Given the description of an element on the screen output the (x, y) to click on. 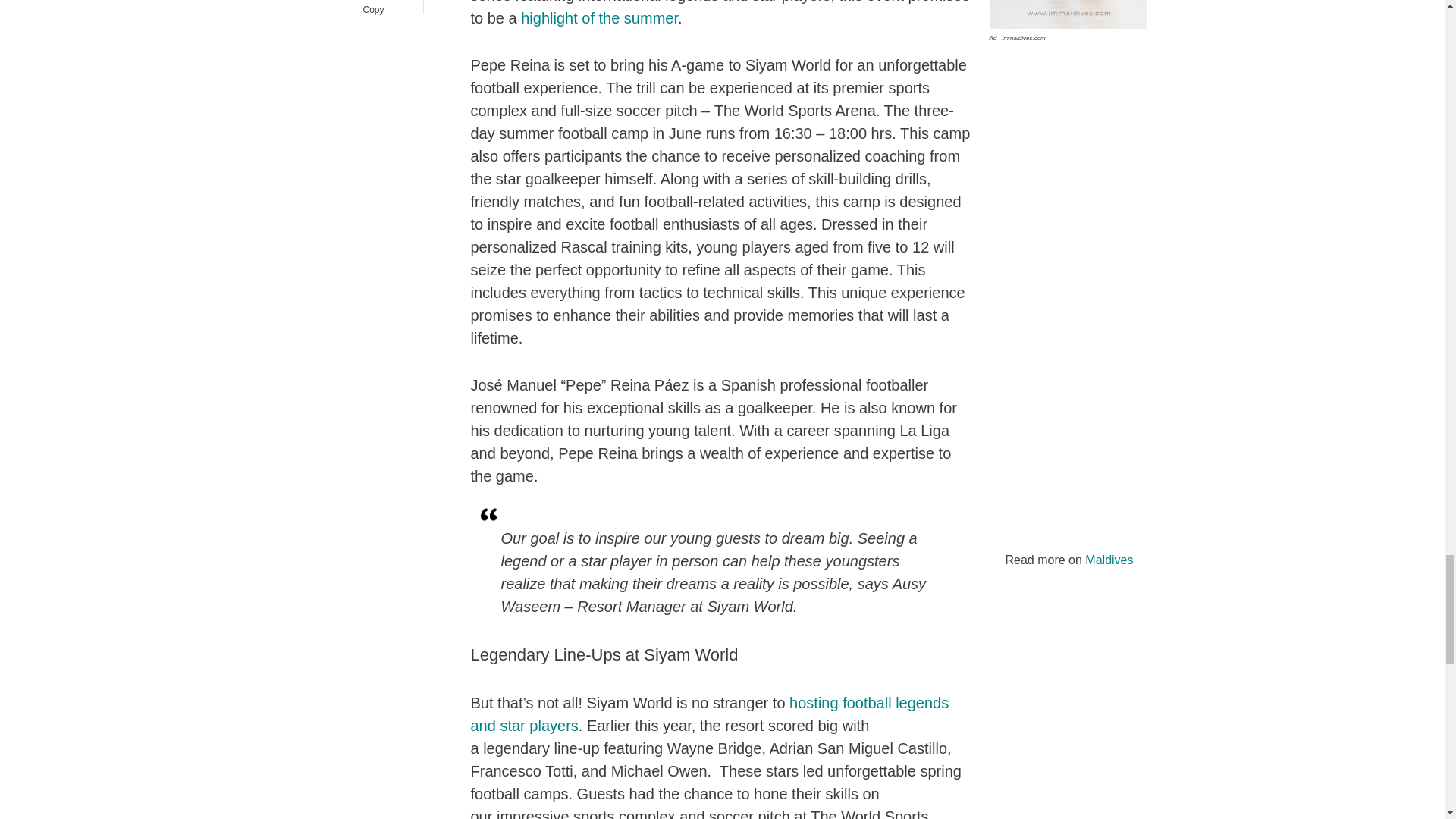
View all posts in Maldives (1108, 559)
Copy (373, 7)
highlight of the summer (599, 17)
hosting football legends and star players (709, 713)
